Given the description of an element on the screen output the (x, y) to click on. 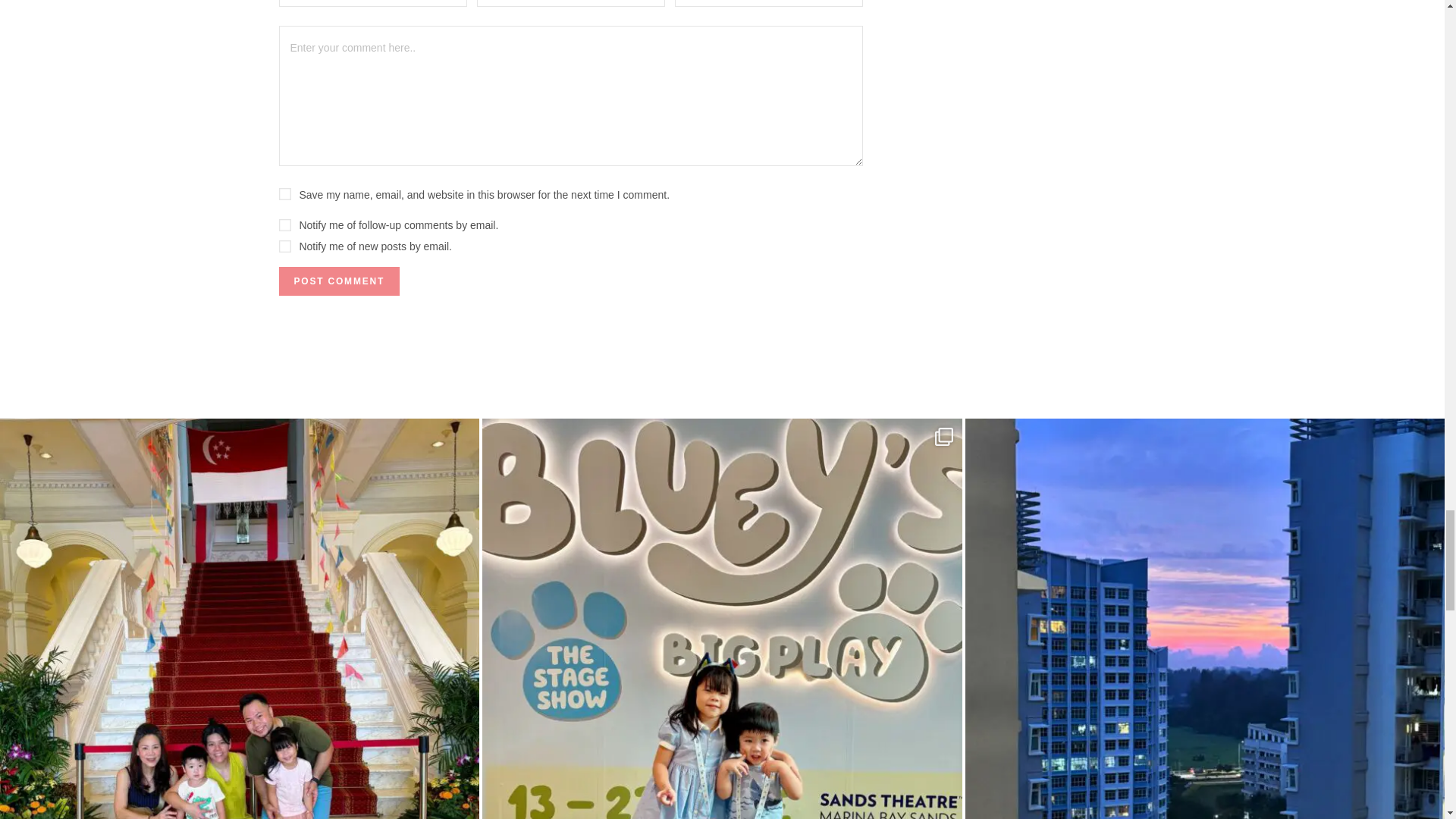
yes (285, 193)
subscribe (285, 246)
subscribe (285, 224)
Post Comment (339, 280)
